Given the description of an element on the screen output the (x, y) to click on. 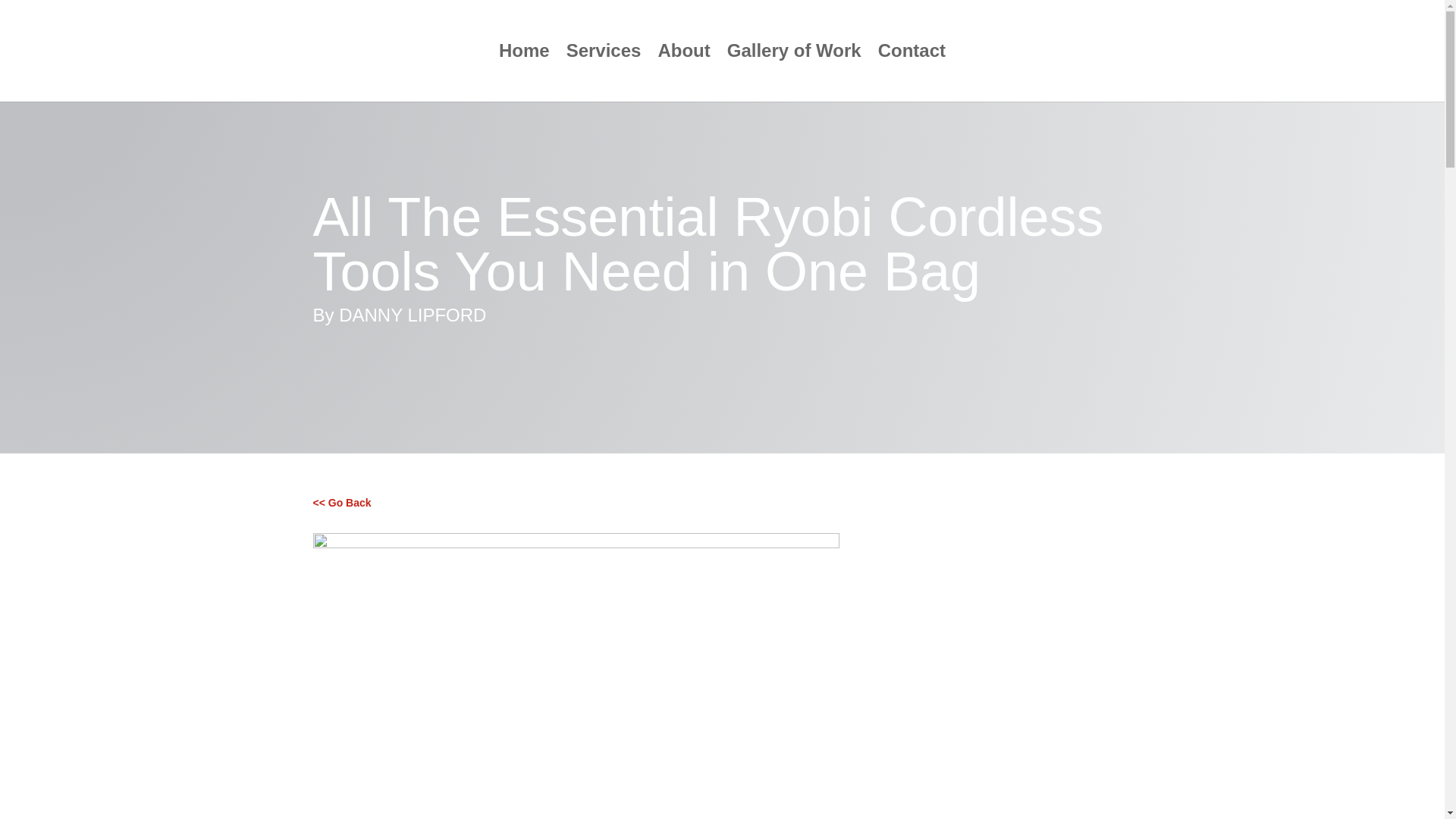
About (684, 73)
Gallery of Work (793, 73)
Contact (910, 73)
Home (524, 73)
Services (604, 73)
